Given the description of an element on the screen output the (x, y) to click on. 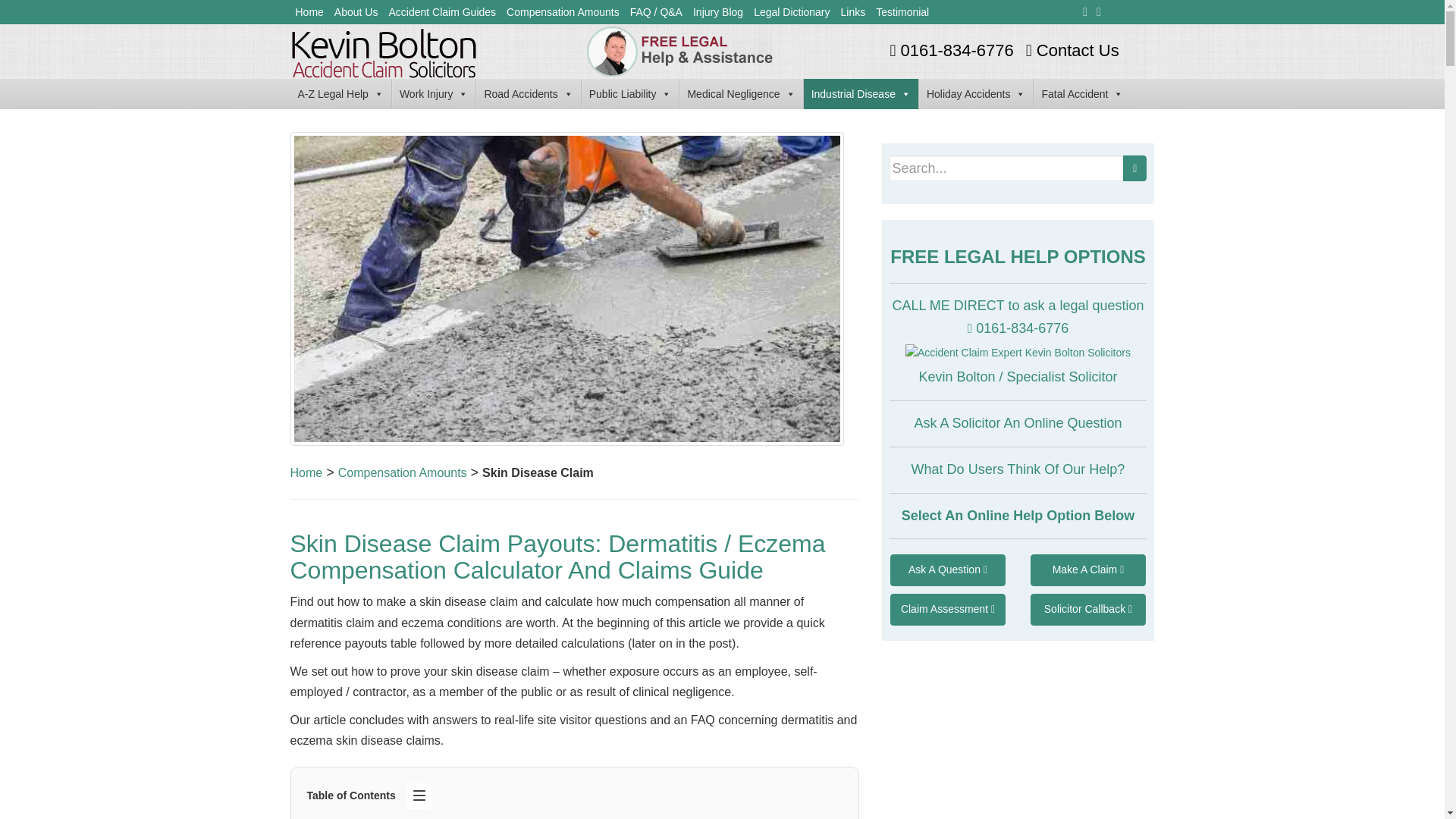
Skin Disease Claim (537, 472)
Injury Blog (717, 12)
Testimonial (902, 12)
Accident Claim Guides (441, 12)
Work Injury (433, 93)
Home (305, 472)
Links (852, 12)
0161-834-6776 (949, 49)
Legal Dictionary (791, 12)
A-Z Legal Help (339, 93)
Compensation Amounts (562, 12)
Home (309, 12)
Home (309, 12)
About Us (356, 12)
